Given the description of an element on the screen output the (x, y) to click on. 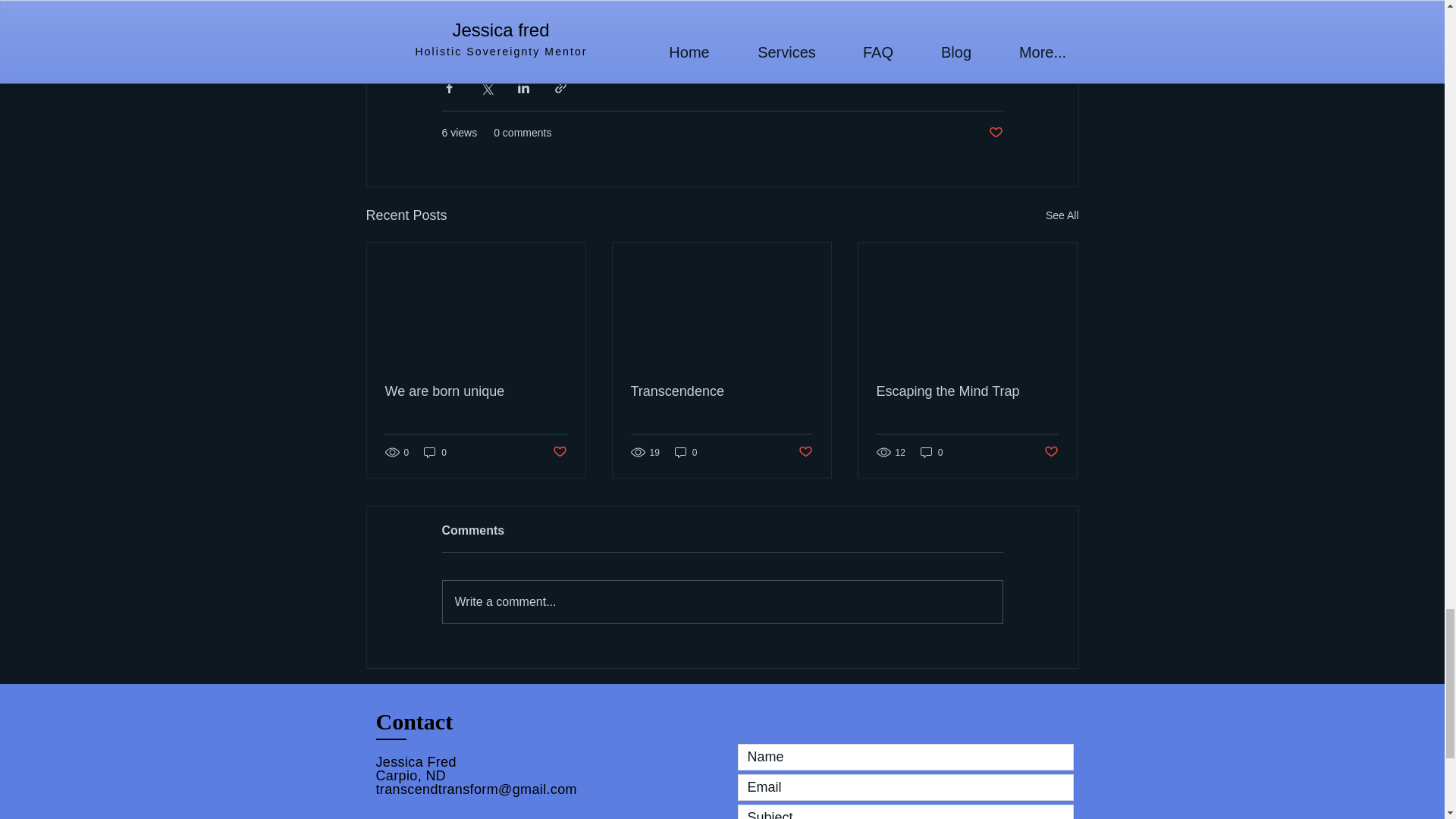
Post not marked as liked (804, 452)
Post not marked as liked (1050, 452)
Transcendence (721, 391)
0 (931, 452)
0 (435, 452)
Write a comment... (722, 601)
0 (685, 452)
Escaping the Mind Trap (967, 391)
Post not marked as liked (558, 452)
Post not marked as liked (995, 132)
See All (1061, 215)
We are born unique (476, 391)
